Given the description of an element on the screen output the (x, y) to click on. 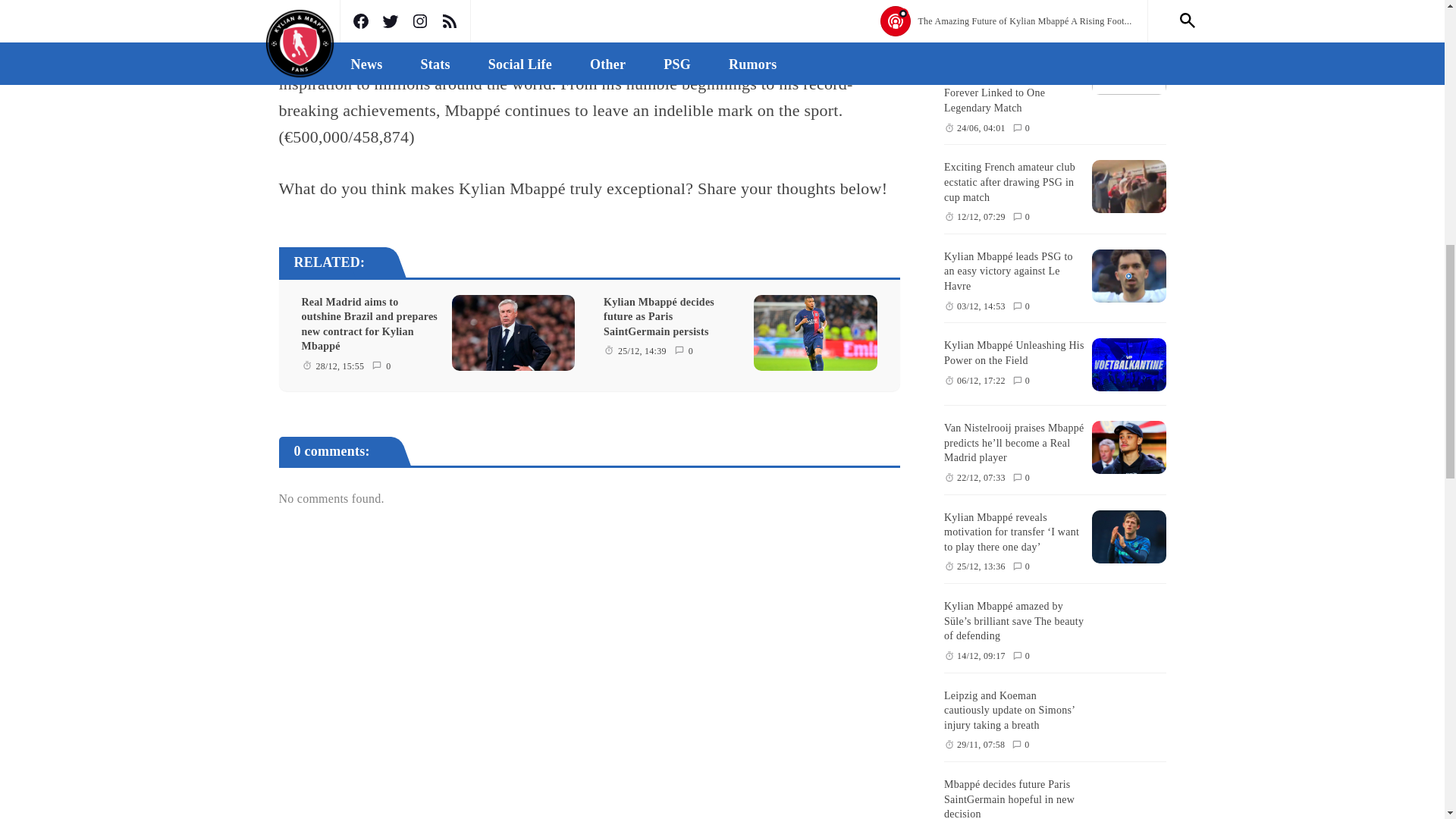
Sunday 3 Dec 2023 14:53 (981, 306)
Wednesday 6 Dec 2023 17:22 (981, 380)
Thursday 28 Dec 2023 15:55 (339, 366)
Monday 25 Dec 2023 13:36 (981, 566)
Thursday 14 Dec 2023 09:17 (981, 656)
Saturday 24 Jun 2023 04:01 (981, 128)
Tuesday 12 Dec 2023 07:29 (981, 217)
Monday 25 Dec 2023 14:39 (641, 351)
Friday 22 Dec 2023 07:33 (981, 477)
Wednesday 29 Nov 2023 07:58 (980, 744)
